Given the description of an element on the screen output the (x, y) to click on. 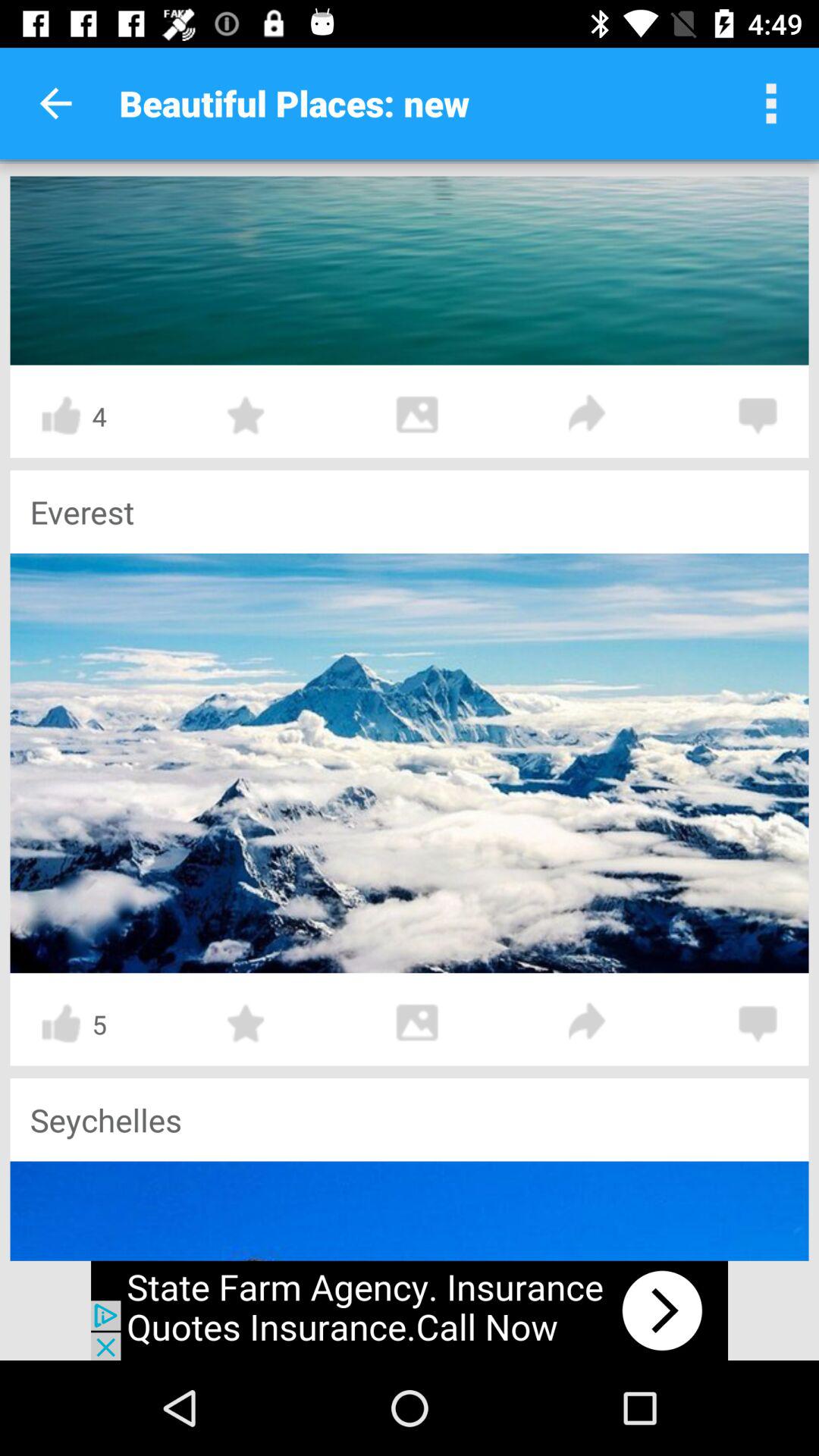
front (587, 415)
